Given the description of an element on the screen output the (x, y) to click on. 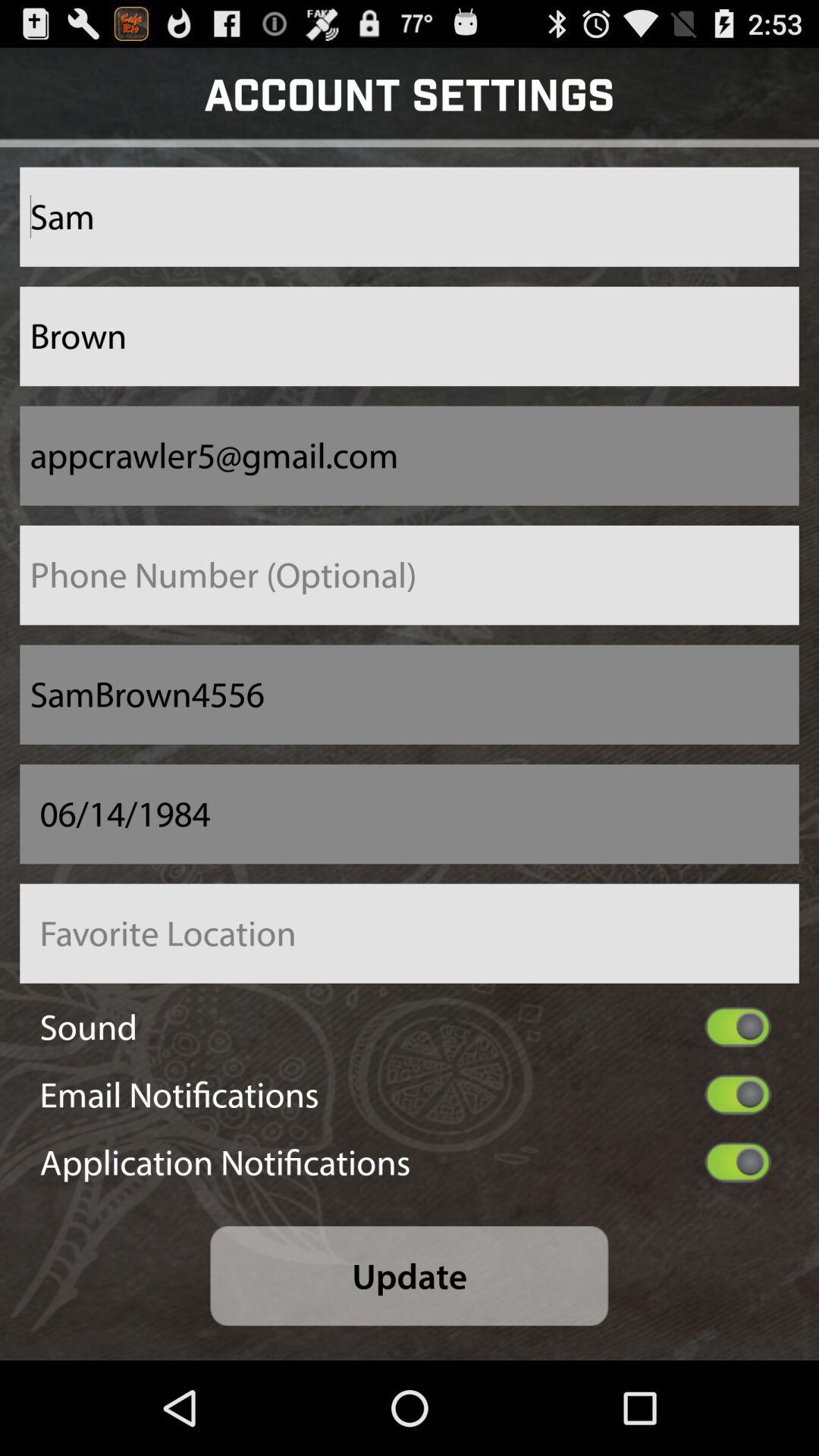
click to enter phone number (409, 575)
